Given the description of an element on the screen output the (x, y) to click on. 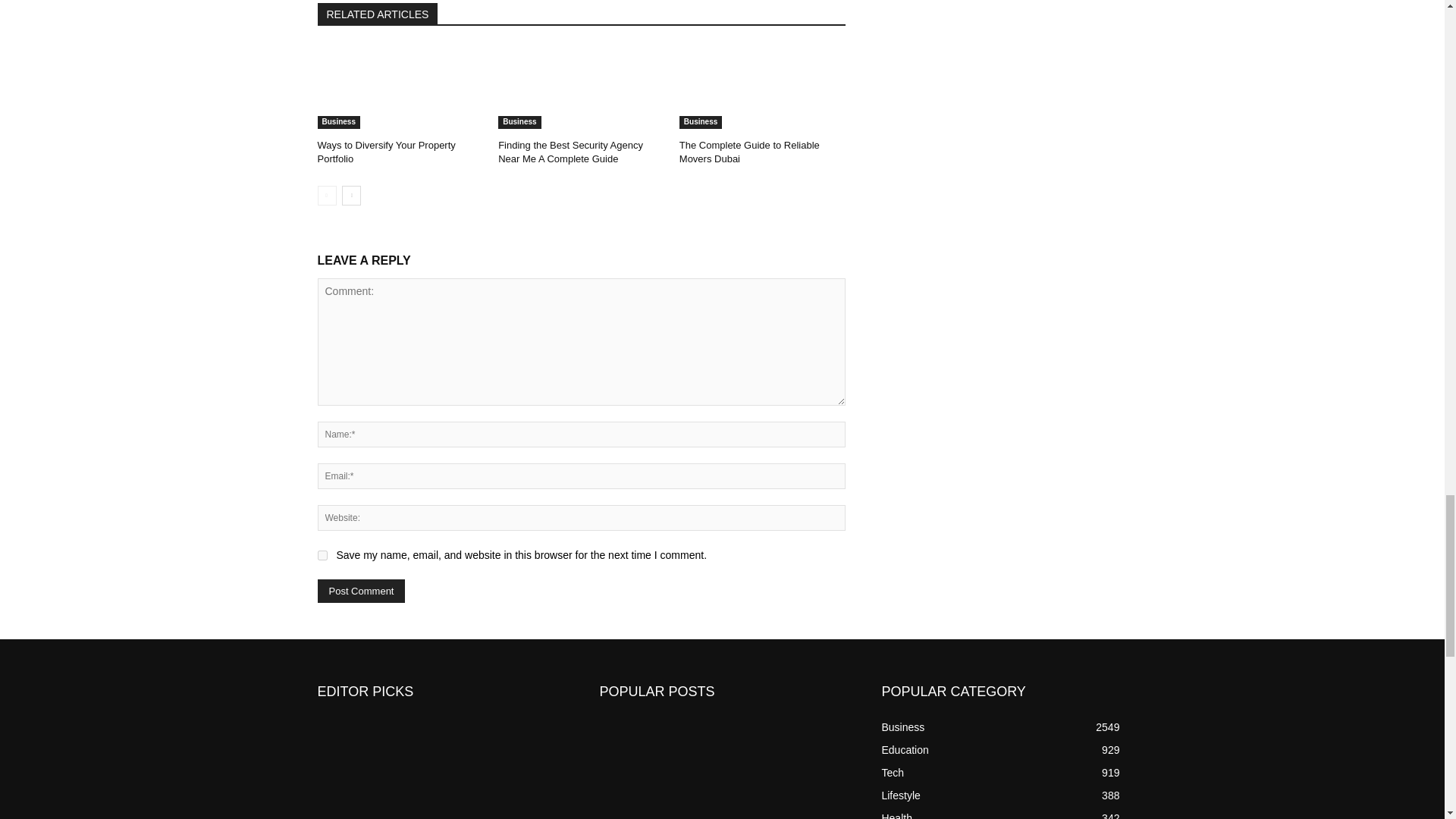
yes (321, 555)
Post Comment (360, 590)
